Given the description of an element on the screen output the (x, y) to click on. 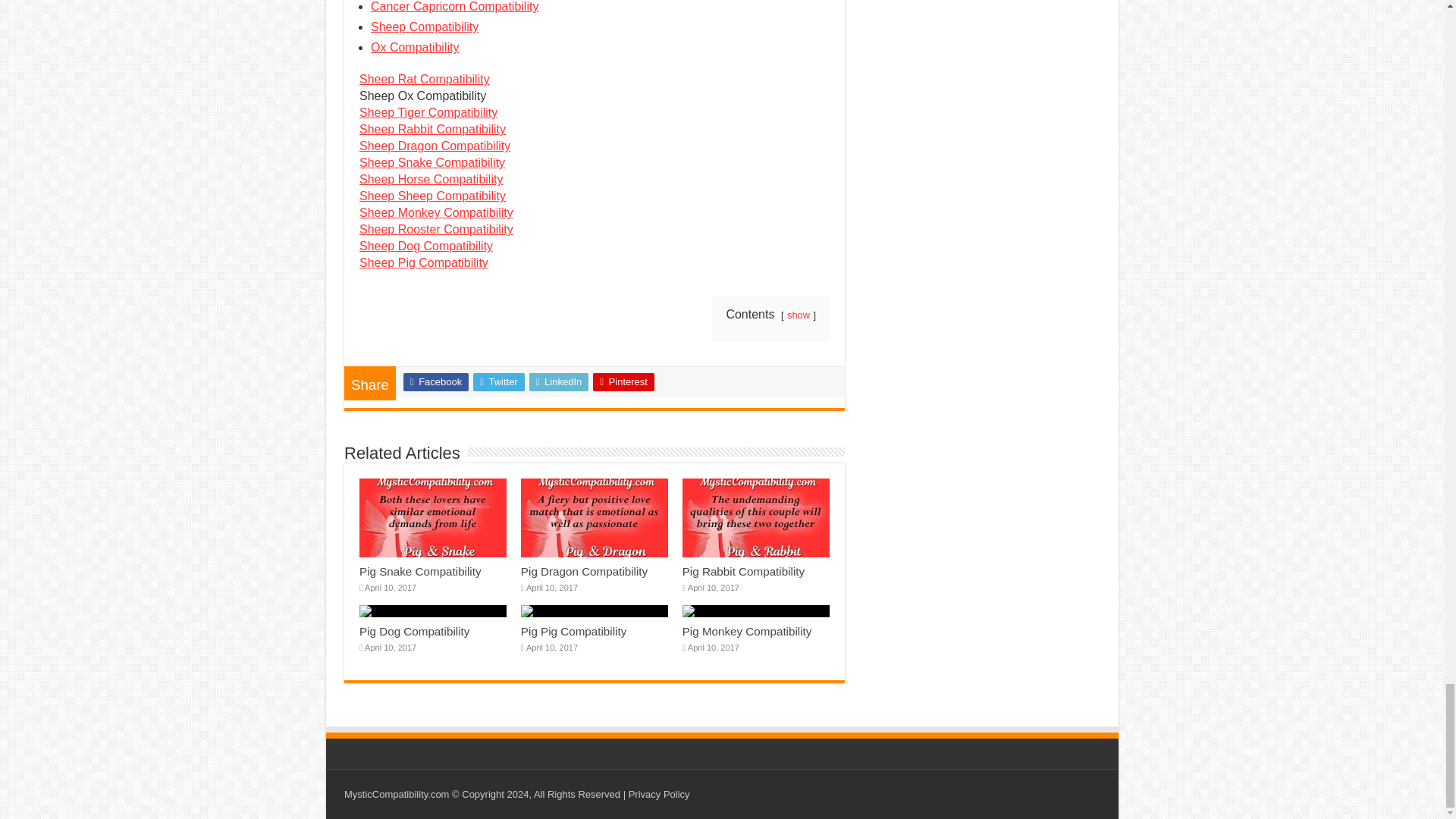
Sheep Tiger Compatibility (428, 112)
Sheep Sheep Compatibility (432, 195)
Sheep Rat Compatibility (424, 78)
Sheep Horse Compatibility (430, 178)
Sheep Dragon Compatibility (435, 145)
Sheep Rabbit Compatibility (432, 128)
Sheep Compatibility (425, 26)
Ox Compatibility (414, 47)
Cancer Capricorn Compatibility (454, 6)
Sheep Snake Compatibility (432, 162)
